Given the description of an element on the screen output the (x, y) to click on. 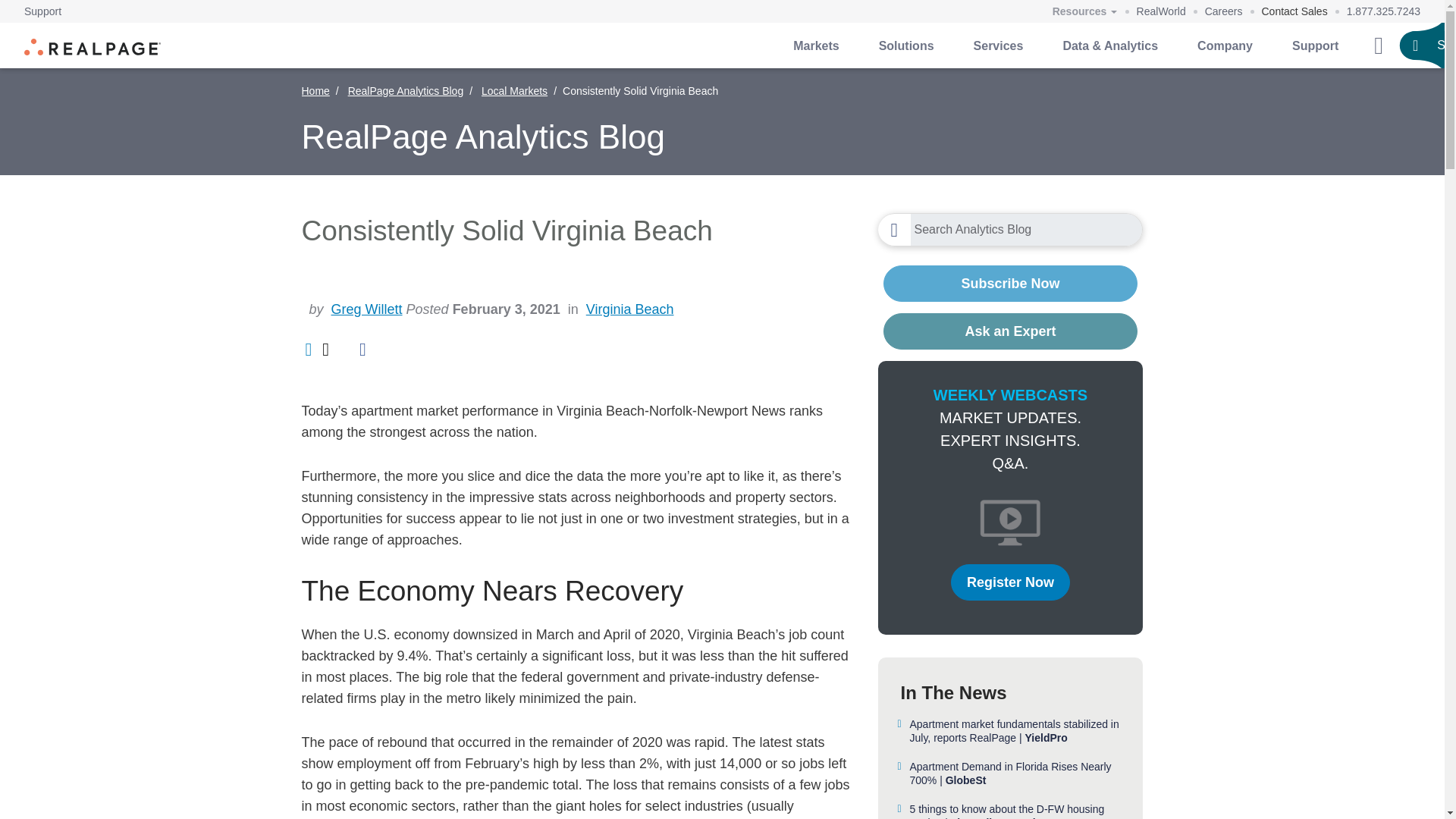
Contact Sales (1294, 11)
Contact Sales (1294, 11)
Support (42, 11)
Solutions (906, 44)
Careers (1224, 11)
RealWorld (1161, 11)
Markets (816, 44)
Resources (1084, 11)
Support (42, 11)
